Given the description of an element on the screen output the (x, y) to click on. 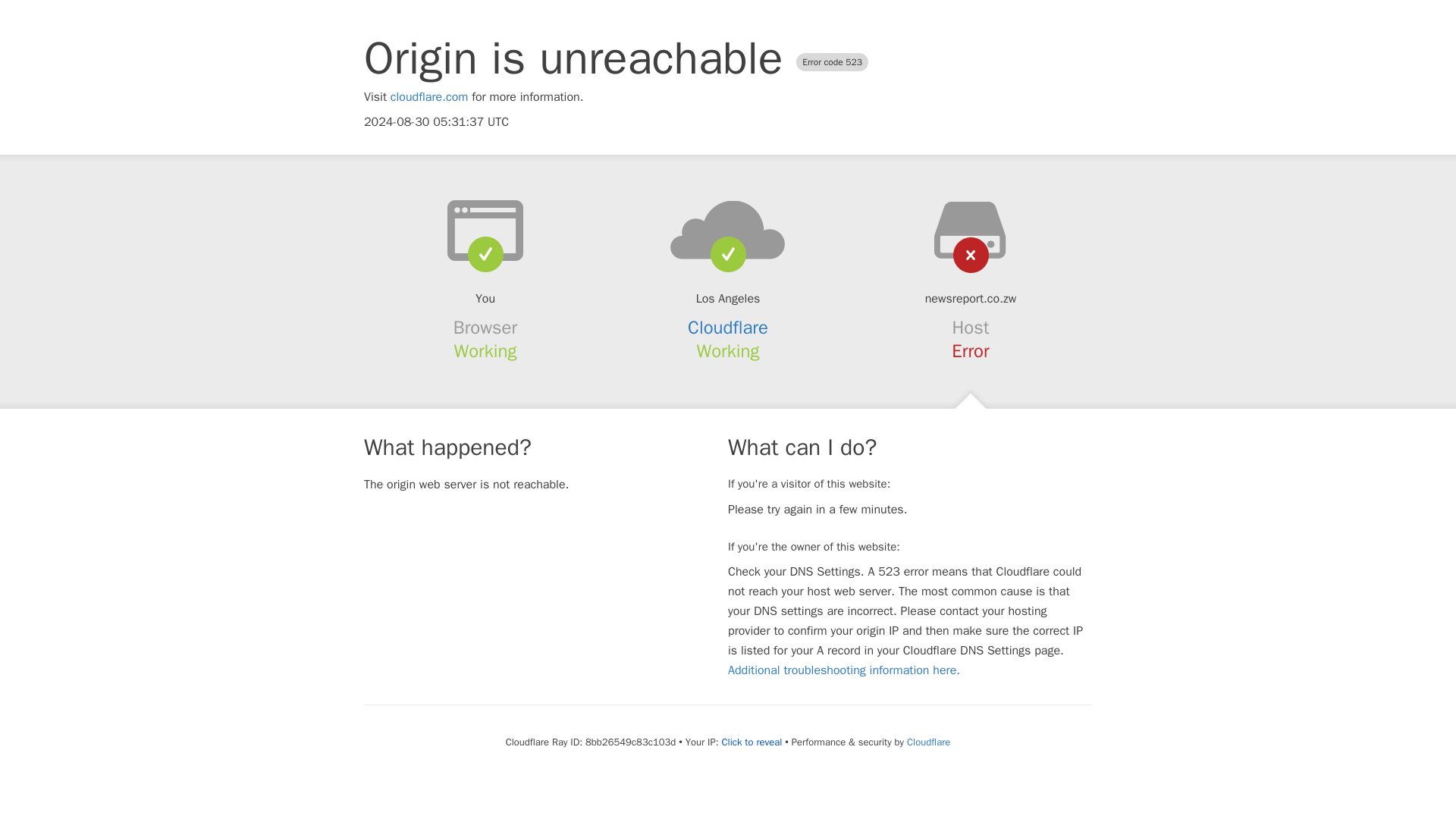
Click to reveal (750, 742)
Cloudflare (727, 327)
cloudflare.com (429, 96)
Additional troubleshooting information here. (843, 670)
Cloudflare (928, 741)
